Given the description of an element on the screen output the (x, y) to click on. 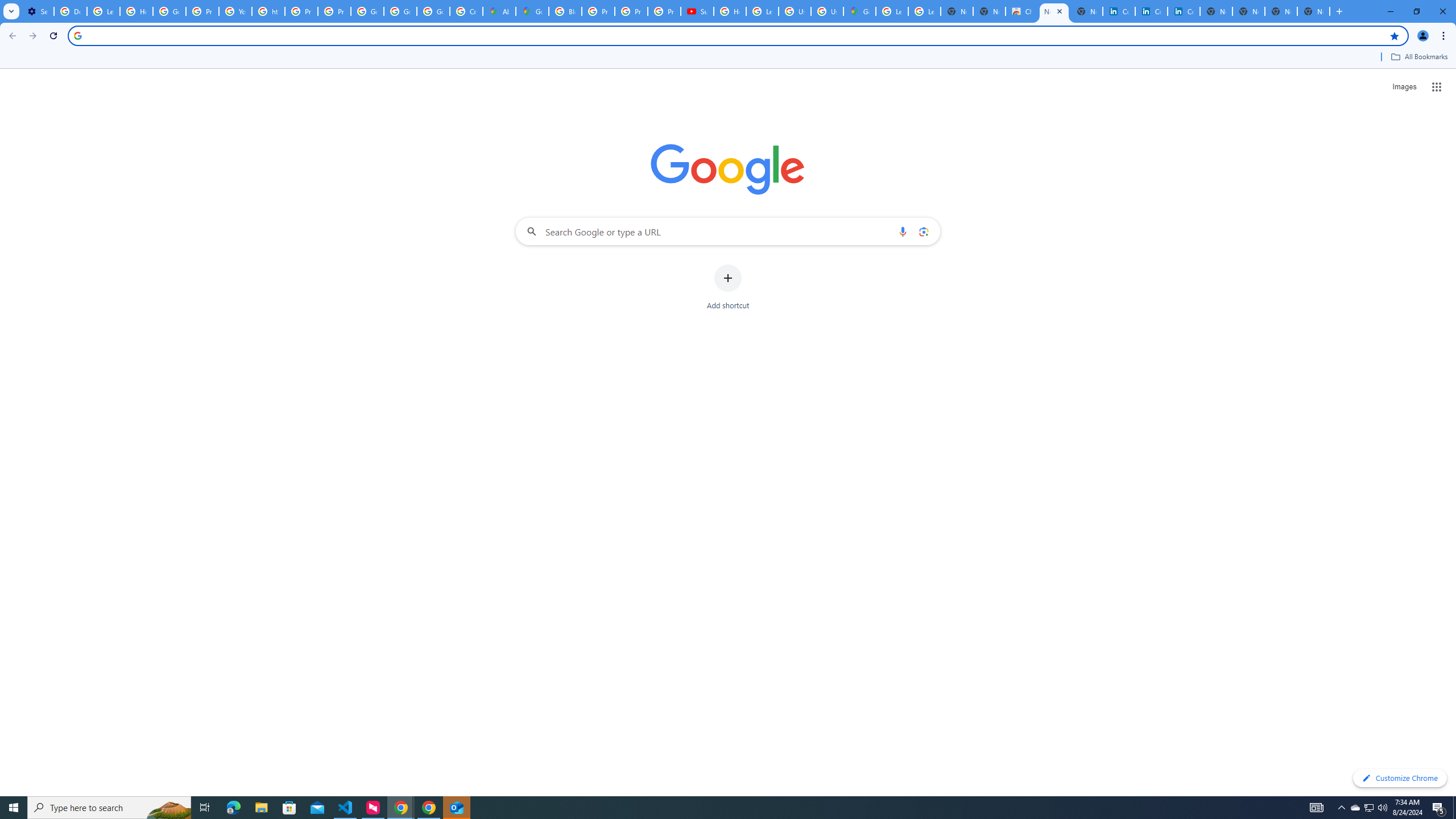
https://scholar.google.com/ (268, 11)
Bookmarks (728, 58)
Subscriptions - YouTube (697, 11)
Cookie Policy | LinkedIn (1118, 11)
Google Maps (532, 11)
Search by voice (902, 230)
Chrome Web Store (1021, 11)
Copyright Policy (1183, 11)
